Given the description of an element on the screen output the (x, y) to click on. 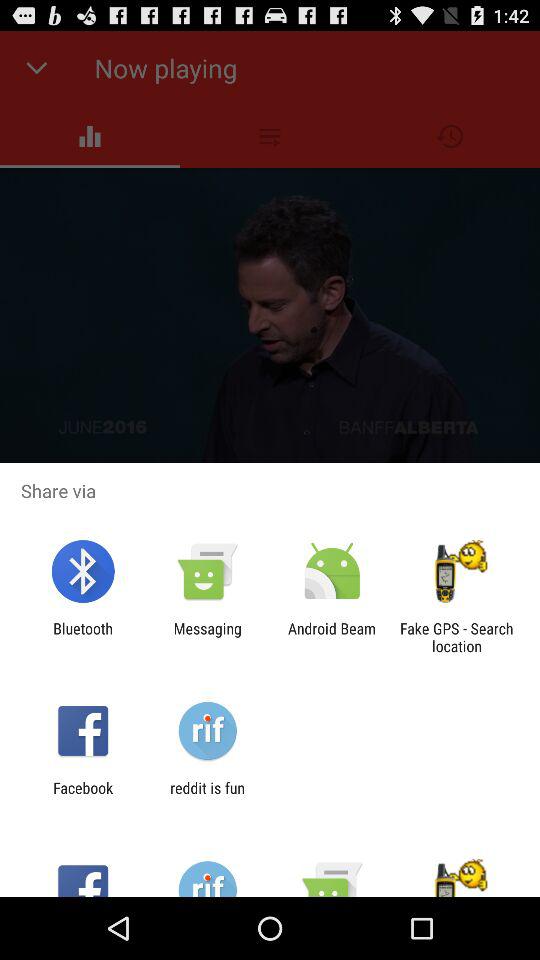
launch the bluetooth item (82, 637)
